Given the description of an element on the screen output the (x, y) to click on. 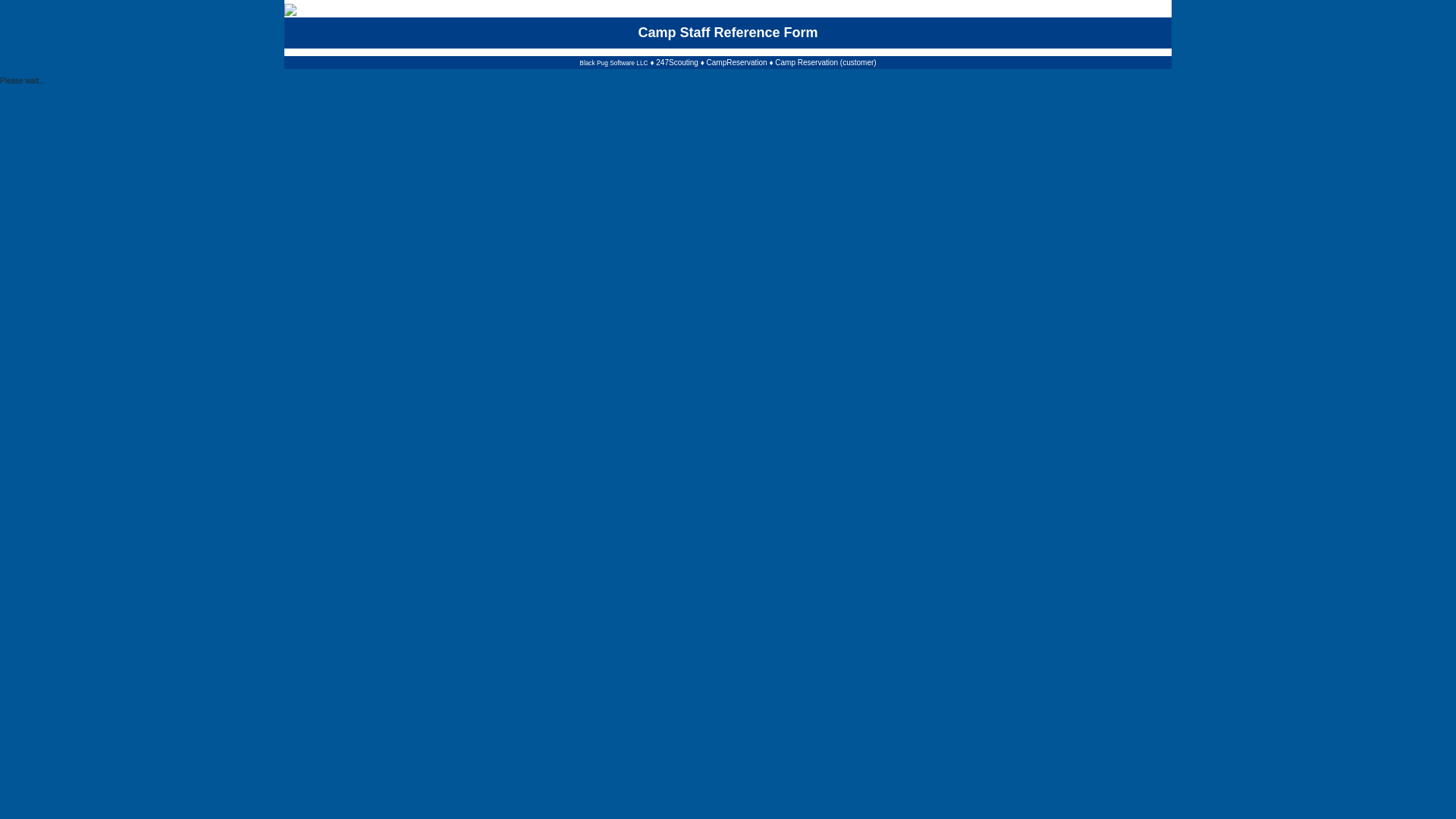
247Scouting Element type: text (676, 62)
Camp Reservation (customer) Element type: text (825, 62)
CampReservation Element type: text (736, 62)
